Given the description of an element on the screen output the (x, y) to click on. 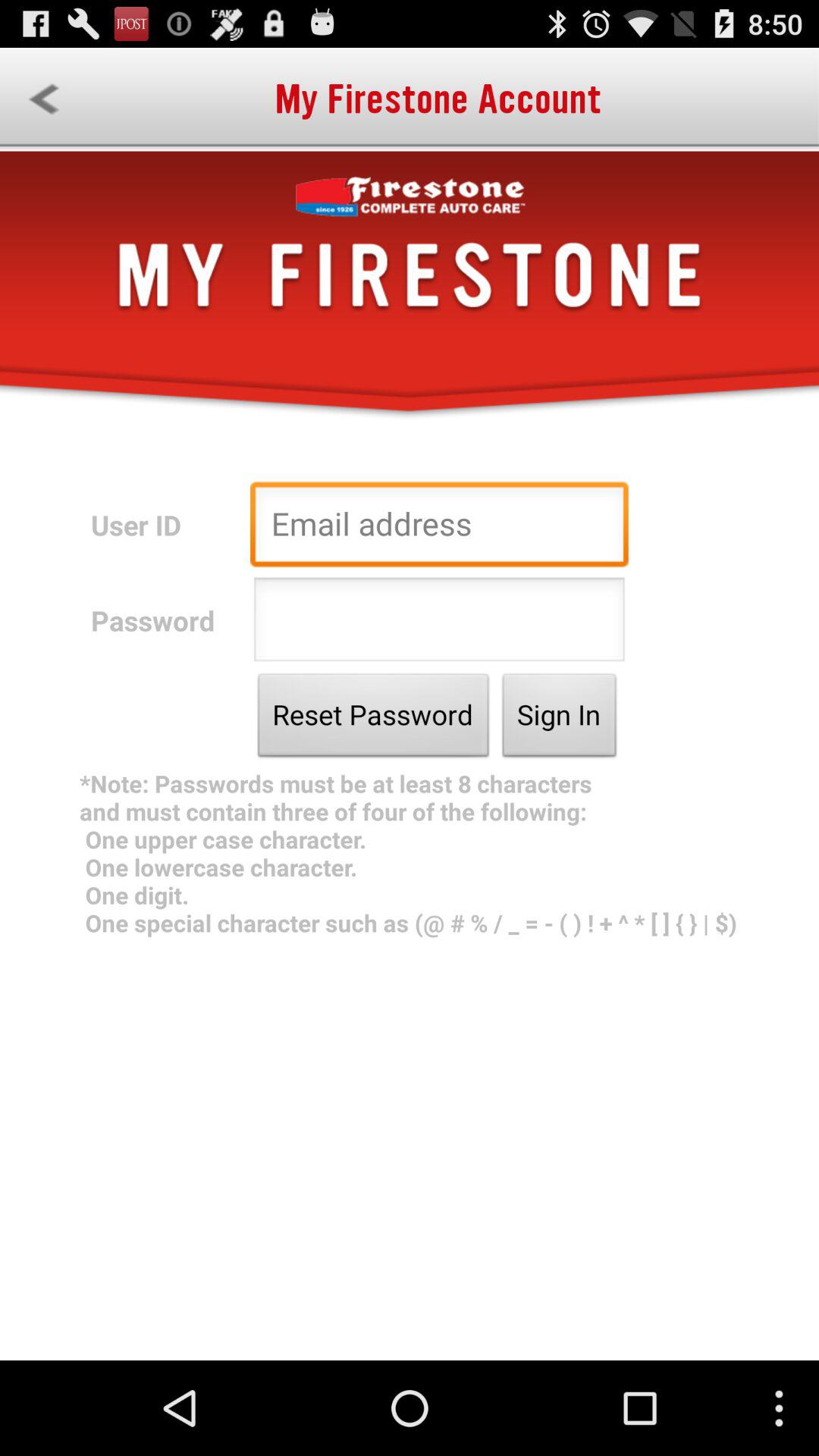
flip until reset password icon (373, 719)
